Given the description of an element on the screen output the (x, y) to click on. 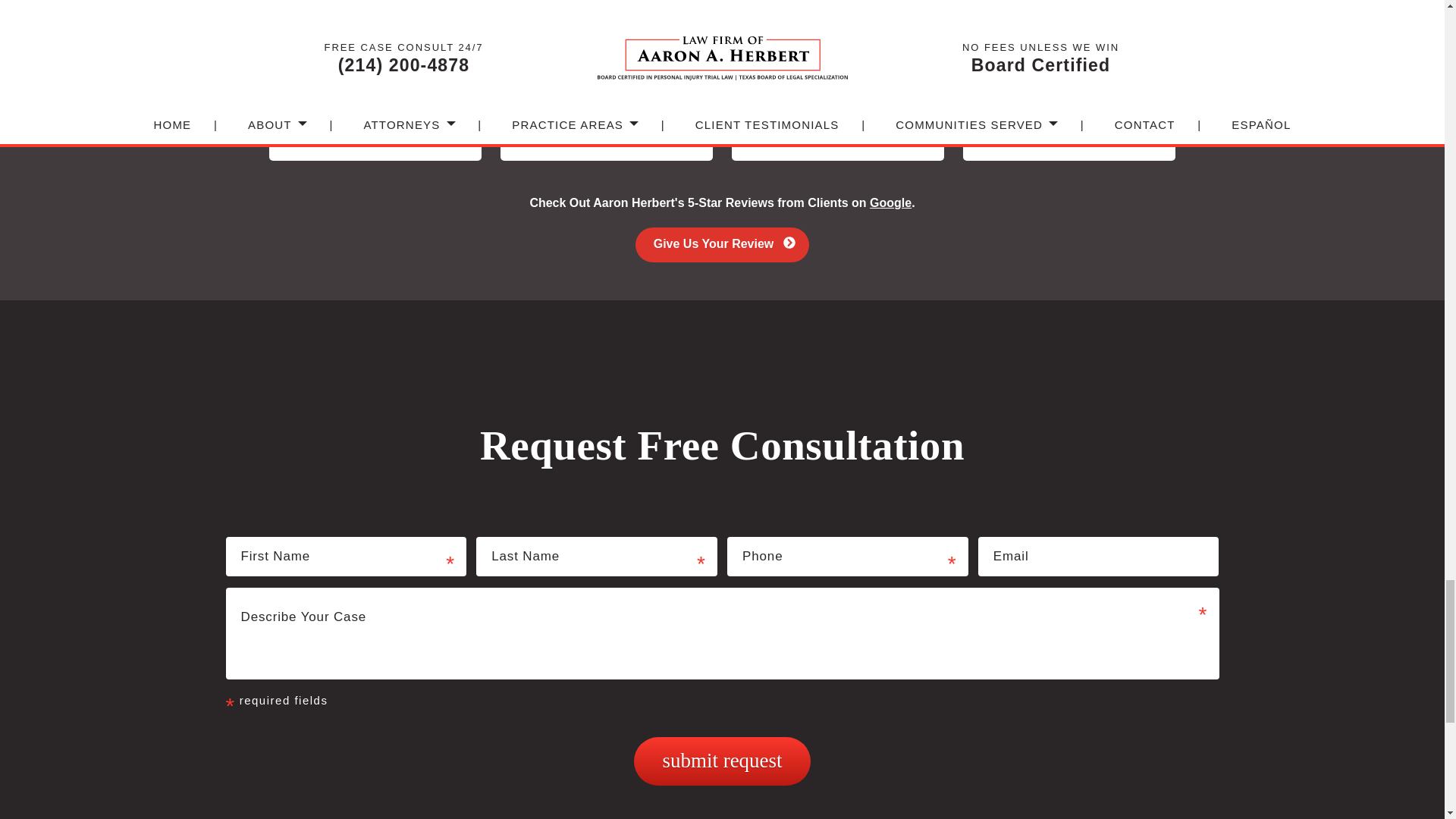
Submit Request (721, 761)
